Given the description of an element on the screen output the (x, y) to click on. 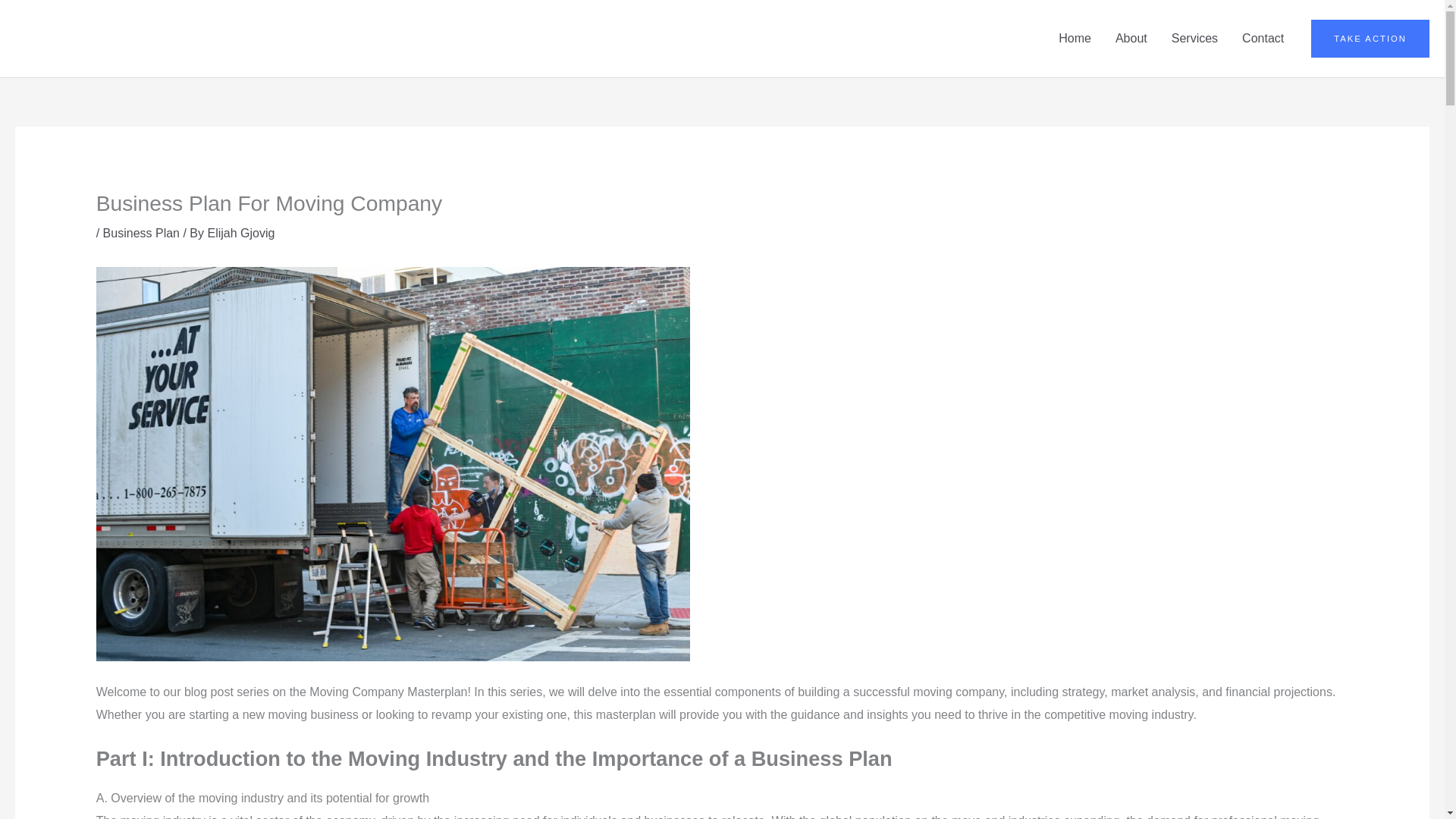
Home (1074, 38)
Business Plan (141, 232)
Services (1194, 38)
View all posts by Elijah Gjovig (240, 232)
Contact (1262, 38)
Elijah Gjovig (240, 232)
TAKE ACTION (1370, 38)
About (1130, 38)
